Given the description of an element on the screen output the (x, y) to click on. 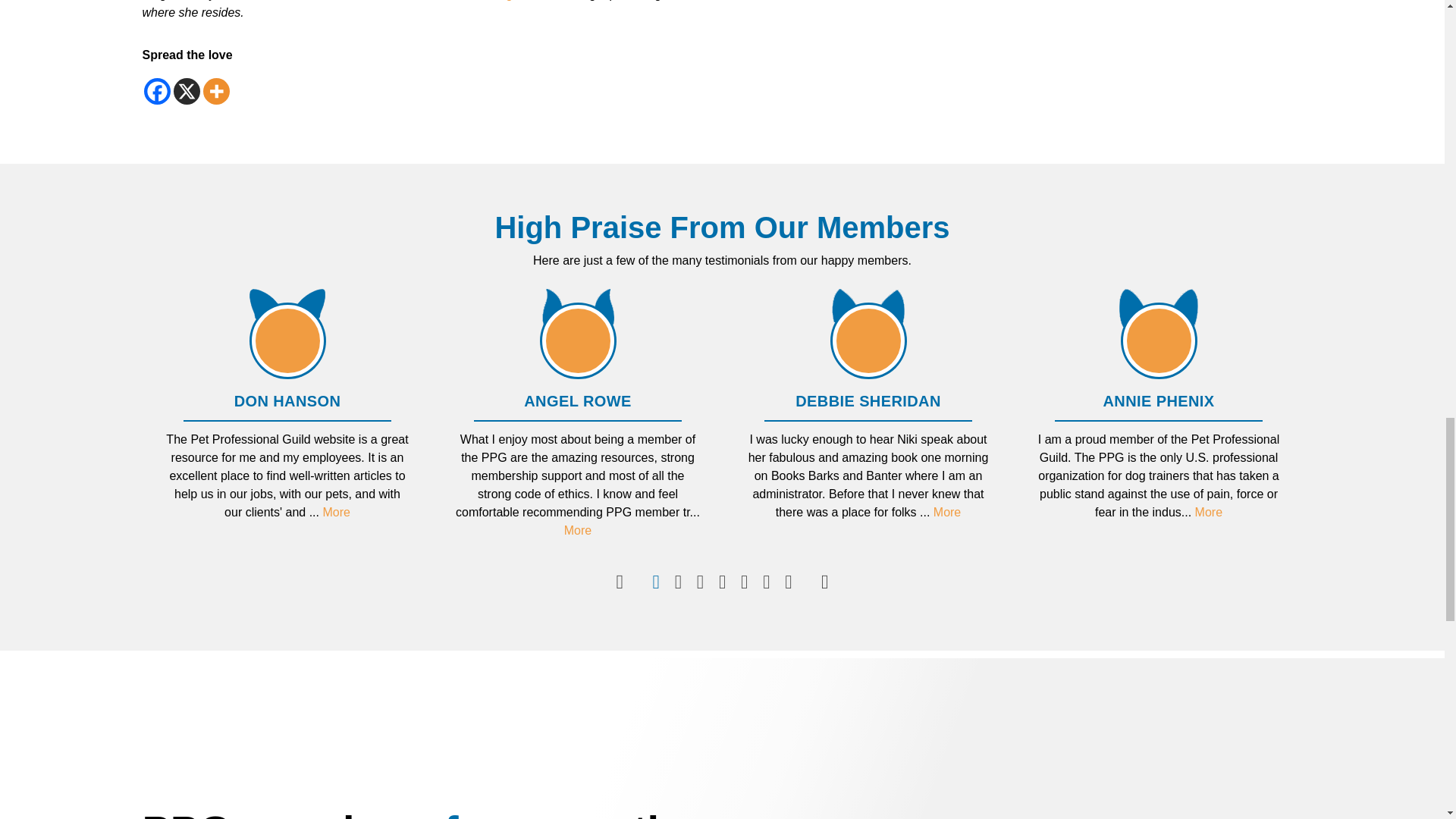
X (186, 90)
More (216, 90)
Facebook (157, 90)
